Given the description of an element on the screen output the (x, y) to click on. 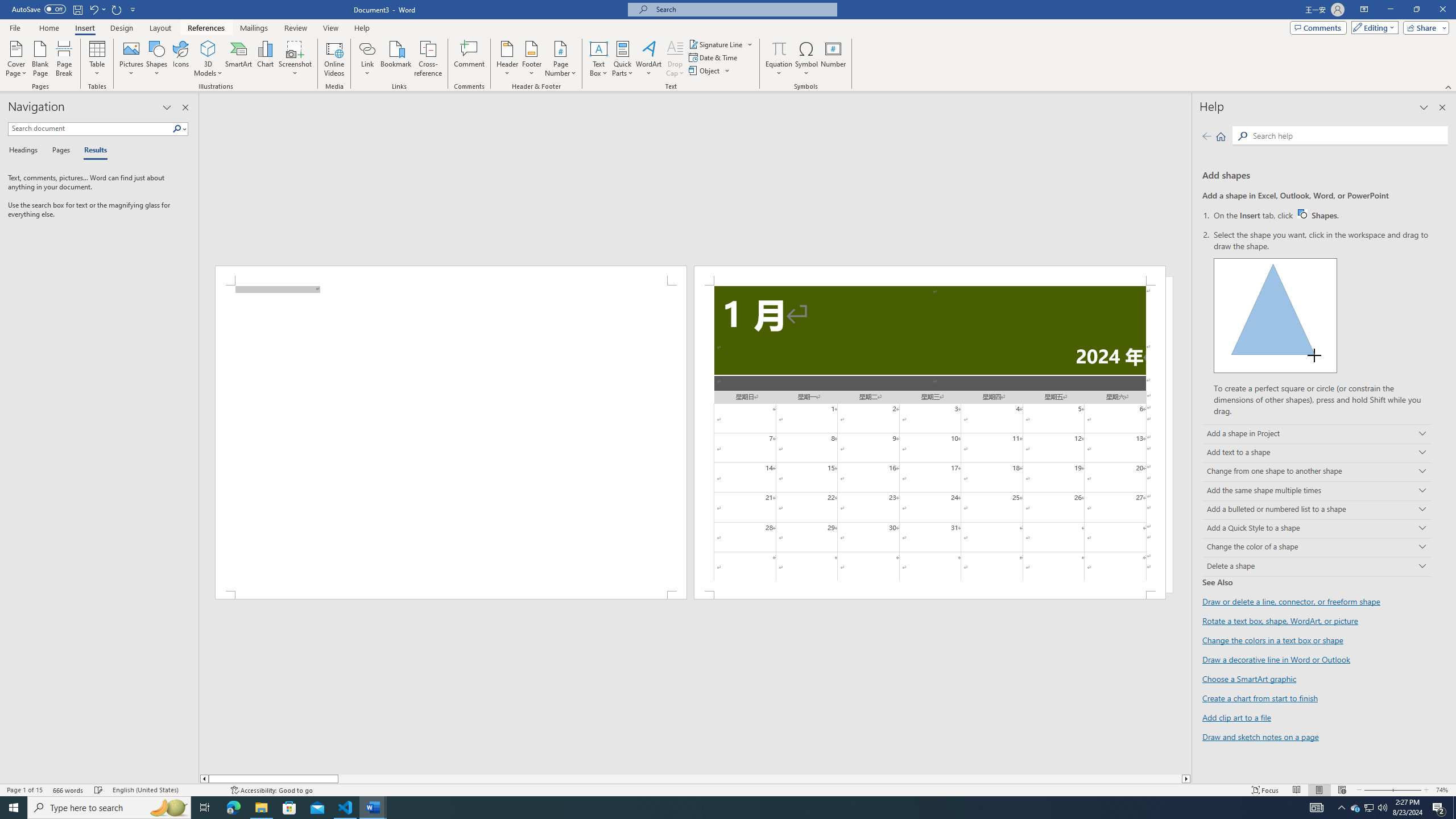
Blank Page (40, 58)
Draw or delete a line, connector, or freeform shape (1291, 601)
Undo New Page (92, 9)
Drawing a shape (1275, 315)
Quick Parts (622, 58)
Previous page (1206, 136)
Signature Line (721, 44)
Add clip art to a file (1236, 717)
Comment (469, 58)
